Given the description of an element on the screen output the (x, y) to click on. 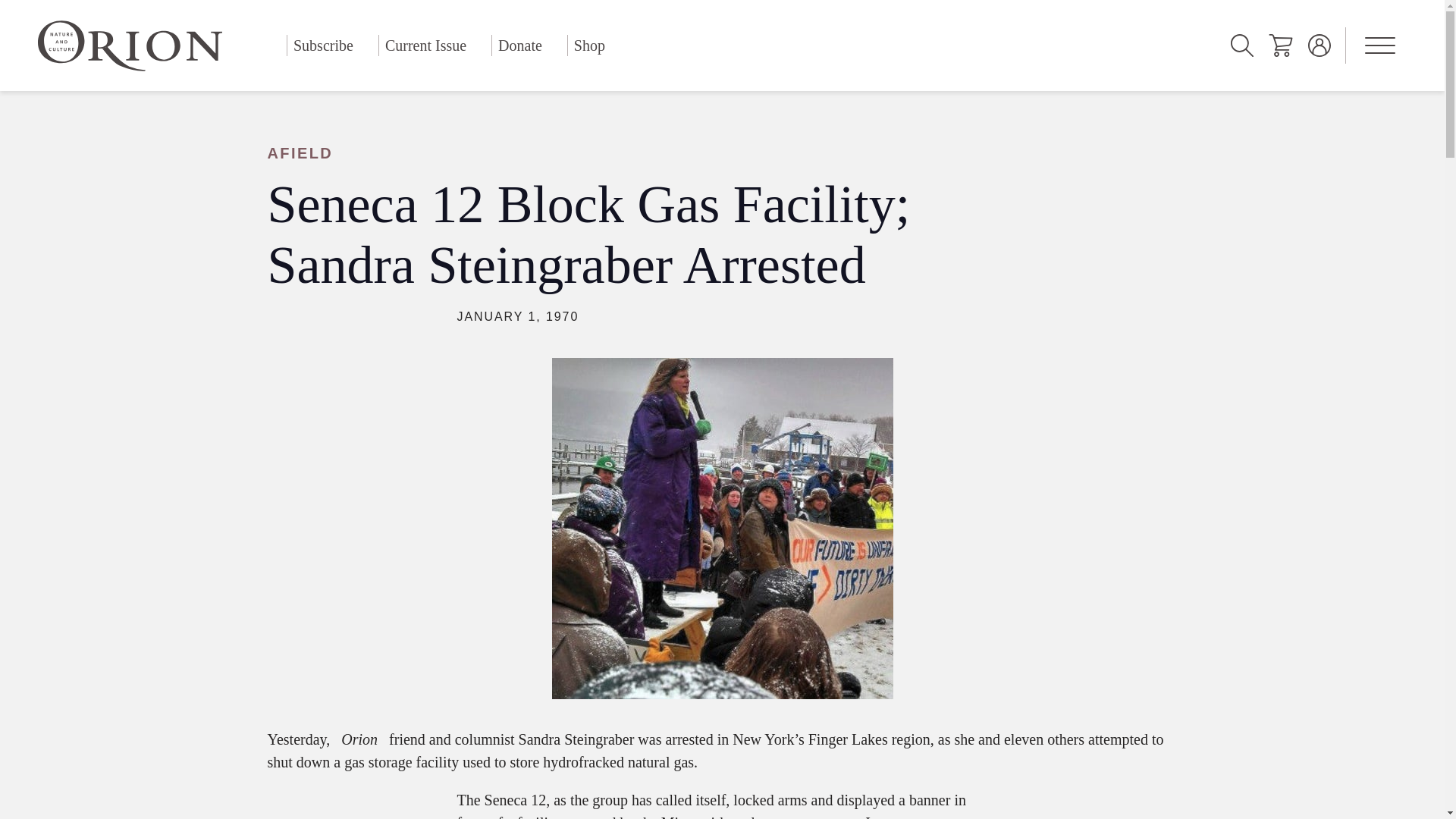
AFIELD (623, 153)
Account Dashboard (1319, 45)
JANUARY 1, 1970 (517, 316)
Donate (520, 45)
Current Issue (424, 45)
Shop (589, 45)
Cart (1280, 45)
Subscribe (322, 45)
Search (1242, 45)
